Given the description of an element on the screen output the (x, y) to click on. 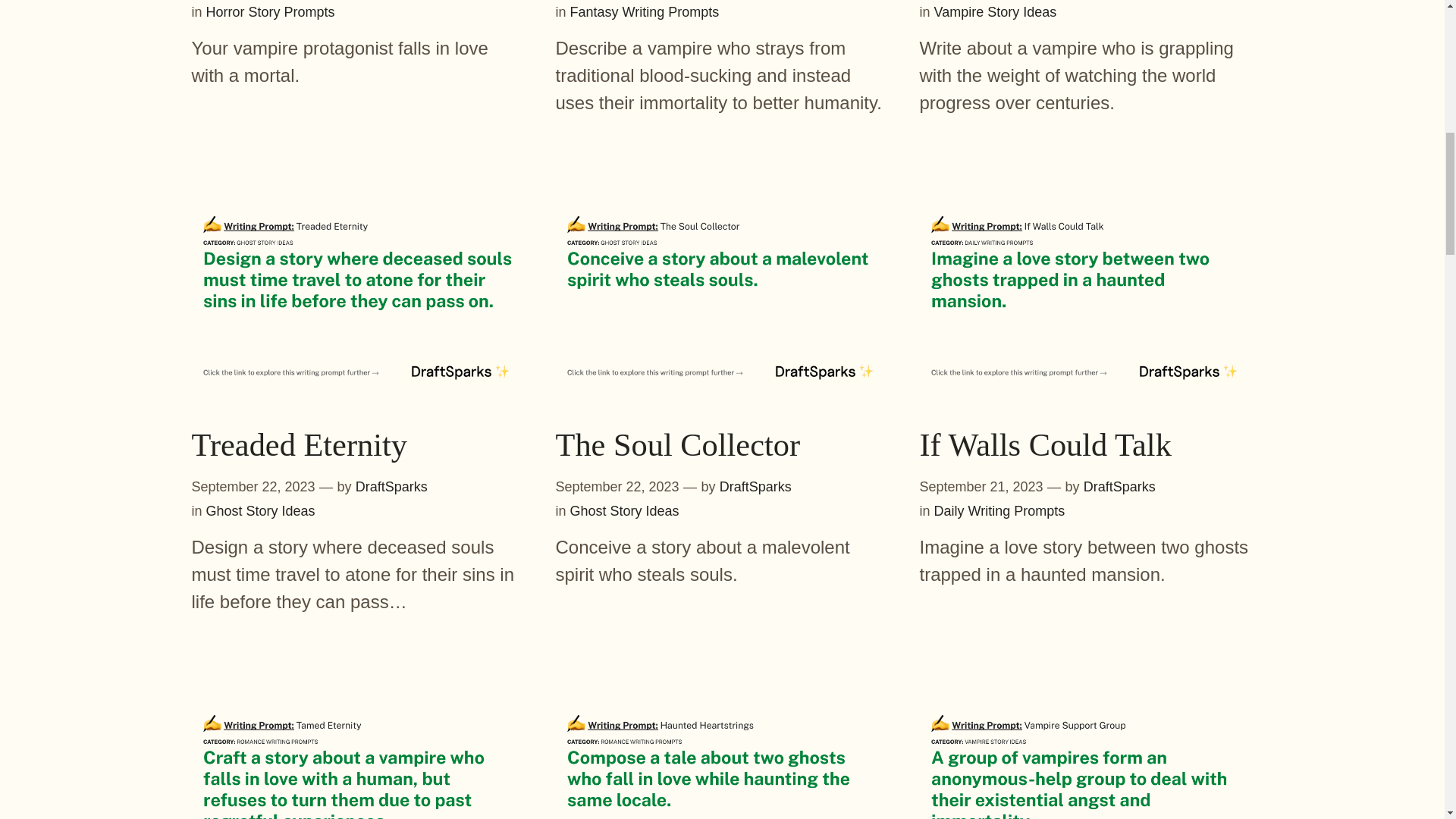
Treaded Eternity (298, 445)
Ghost Story Ideas (260, 510)
Horror Story Prompts (270, 11)
DraftSparks (391, 486)
Ghost Story Ideas (624, 510)
Vampire Story Ideas (995, 11)
DraftSparks (755, 486)
The Soul Collector (676, 445)
Fantasy Writing Prompts (644, 11)
